Given the description of an element on the screen output the (x, y) to click on. 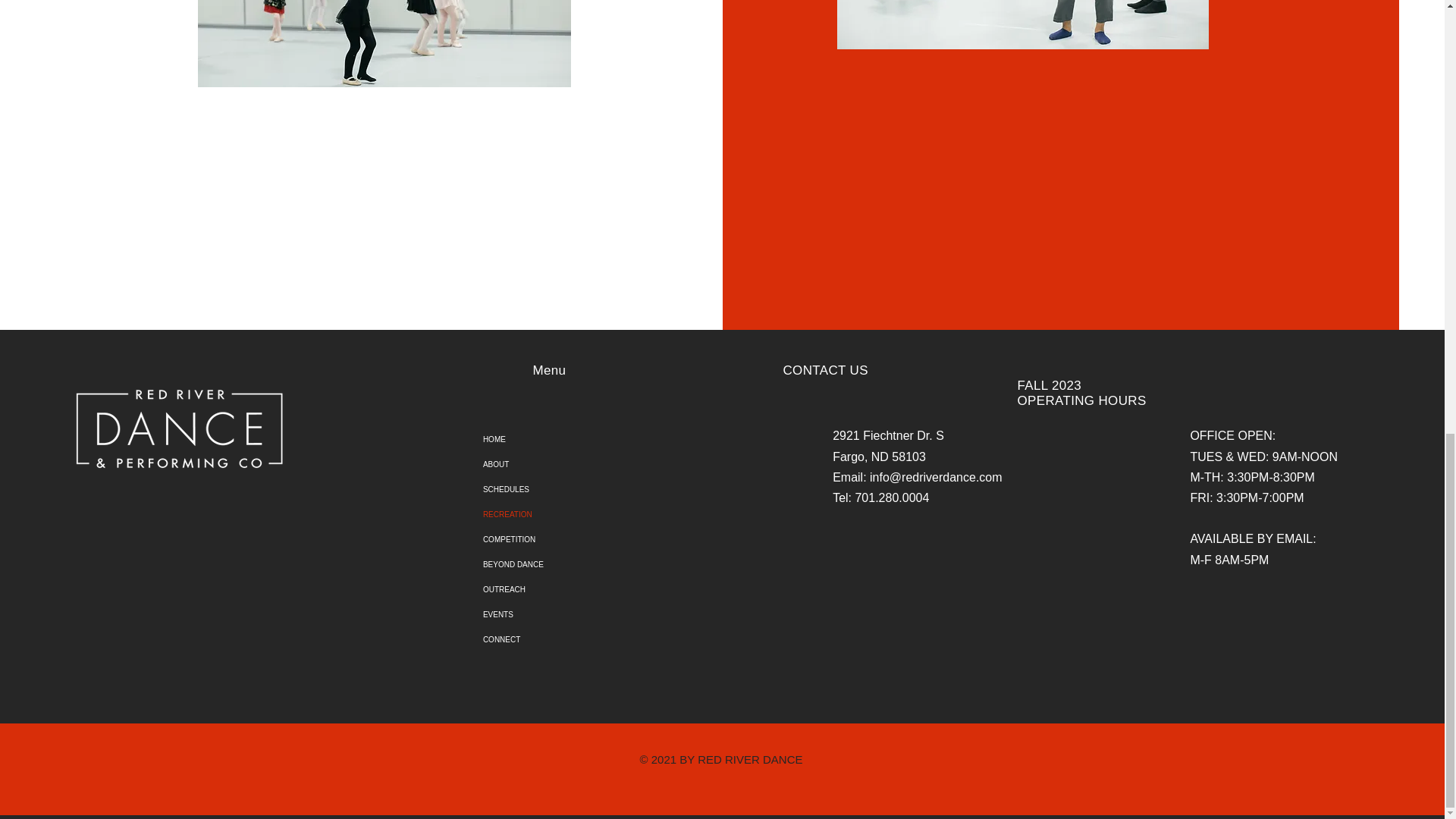
SCHEDULES (569, 489)
HOME (569, 439)
RECREATION (569, 514)
ABOUT (569, 464)
